Given the description of an element on the screen output the (x, y) to click on. 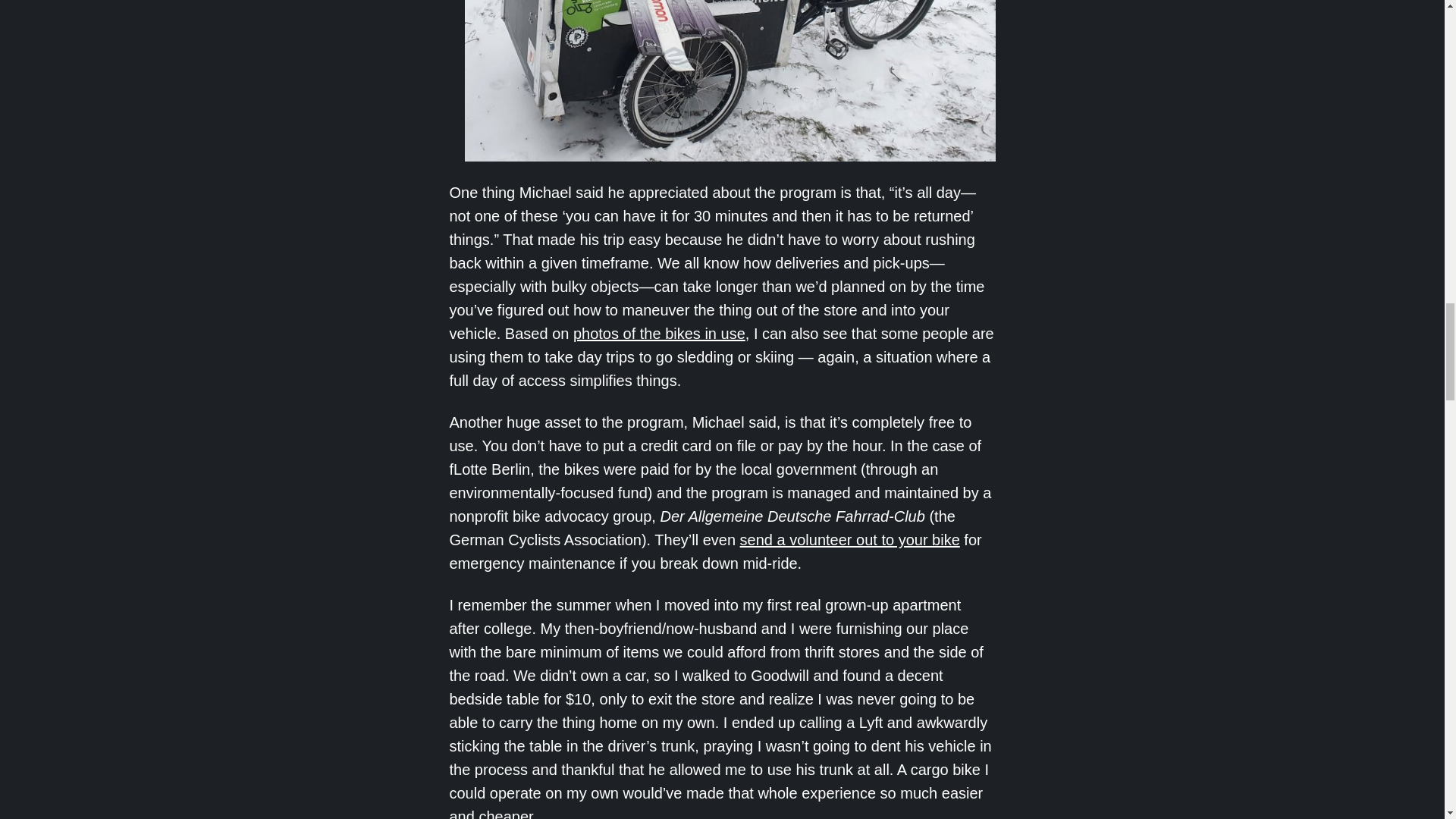
send a volunteer out to your bike (849, 539)
photos of the bikes in use (659, 333)
